Given the description of an element on the screen output the (x, y) to click on. 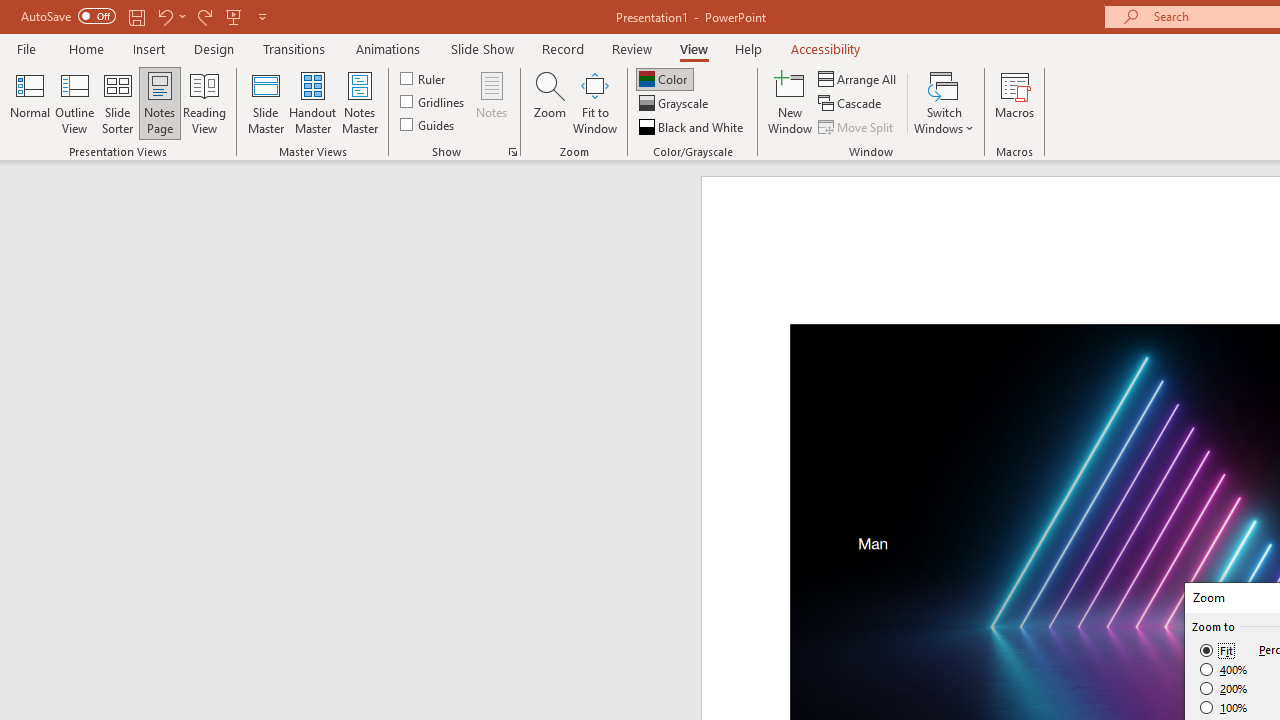
Switch Windows (943, 102)
Guides (428, 124)
Grayscale (675, 103)
Cascade (851, 103)
Black and White (693, 126)
Outline View (74, 102)
